Given the description of an element on the screen output the (x, y) to click on. 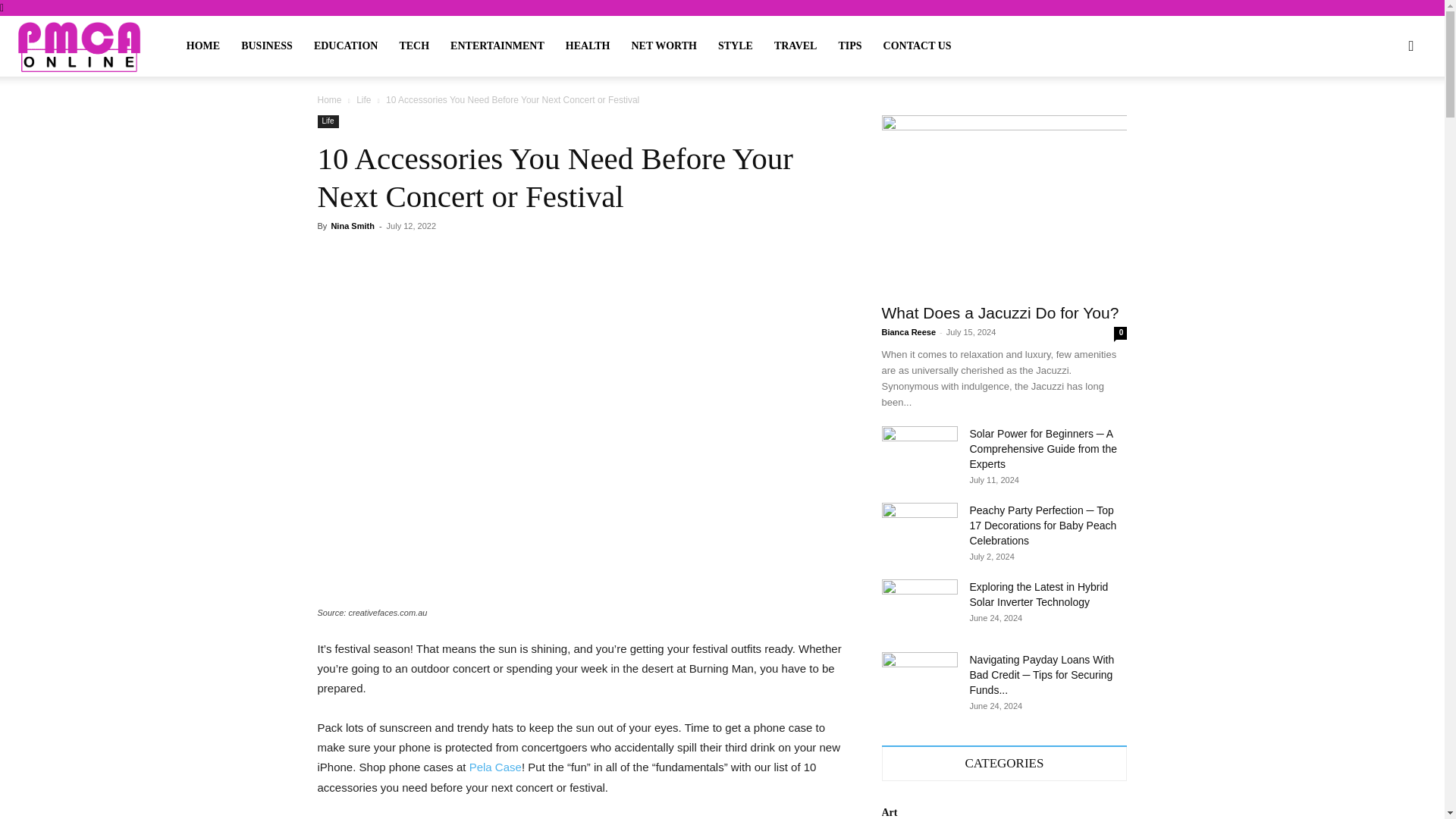
Life (363, 100)
Home (328, 100)
Search (1379, 119)
NET WORTH (663, 45)
Nina Smith (352, 225)
Pela Case (494, 766)
View all posts in Life (363, 100)
Life (327, 121)
CONTACT US (917, 45)
EDUCATION (345, 45)
TRAVEL (795, 45)
ENTERTAINMENT (496, 45)
PMCAOnline (79, 46)
HEALTH (587, 45)
